Given the description of an element on the screen output the (x, y) to click on. 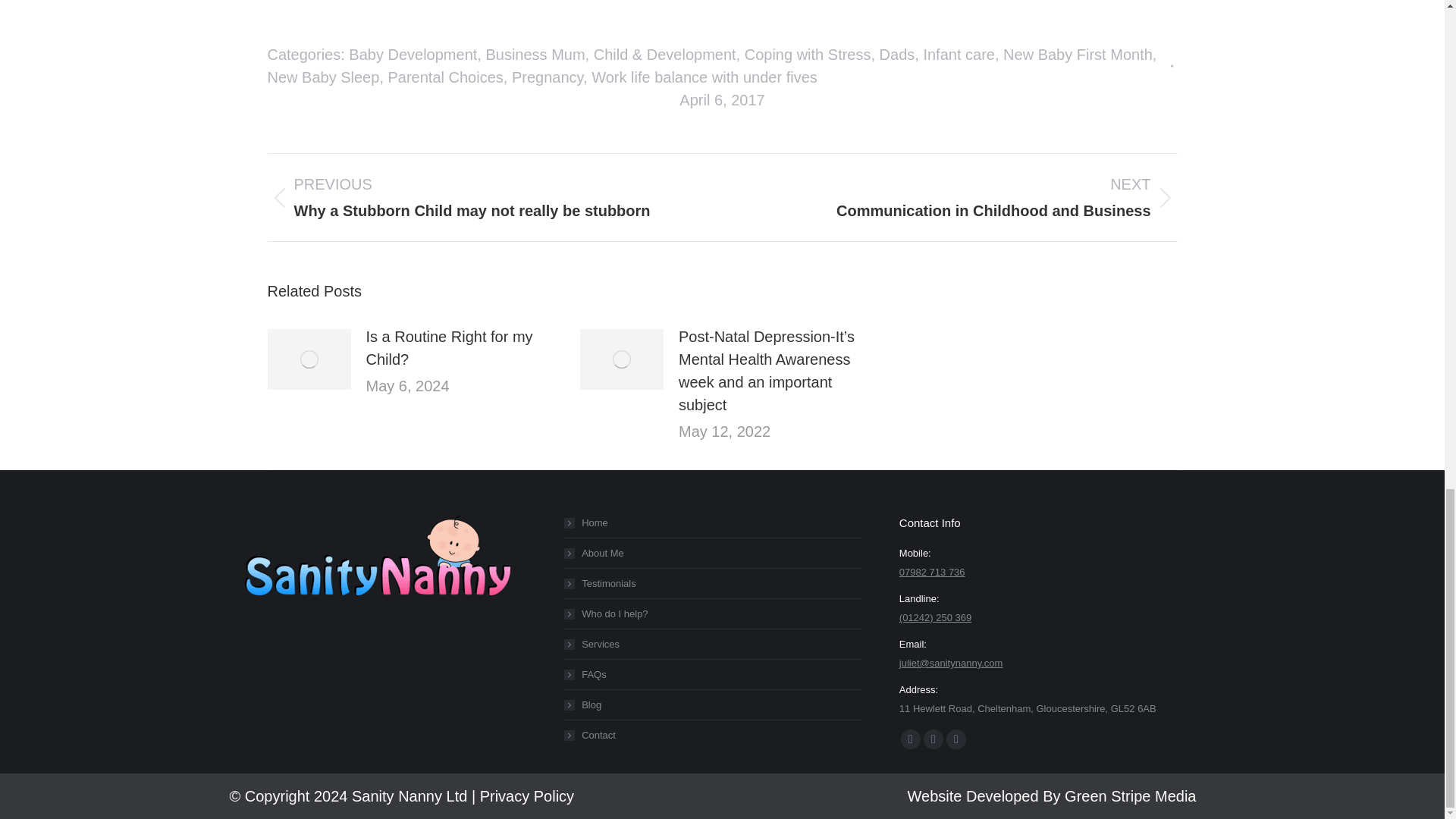
YouTube page opens in new window (956, 739)
4:29 pm (721, 99)
Facebook page opens in new window (910, 739)
Twitter page opens in new window (933, 739)
